Given the description of an element on the screen output the (x, y) to click on. 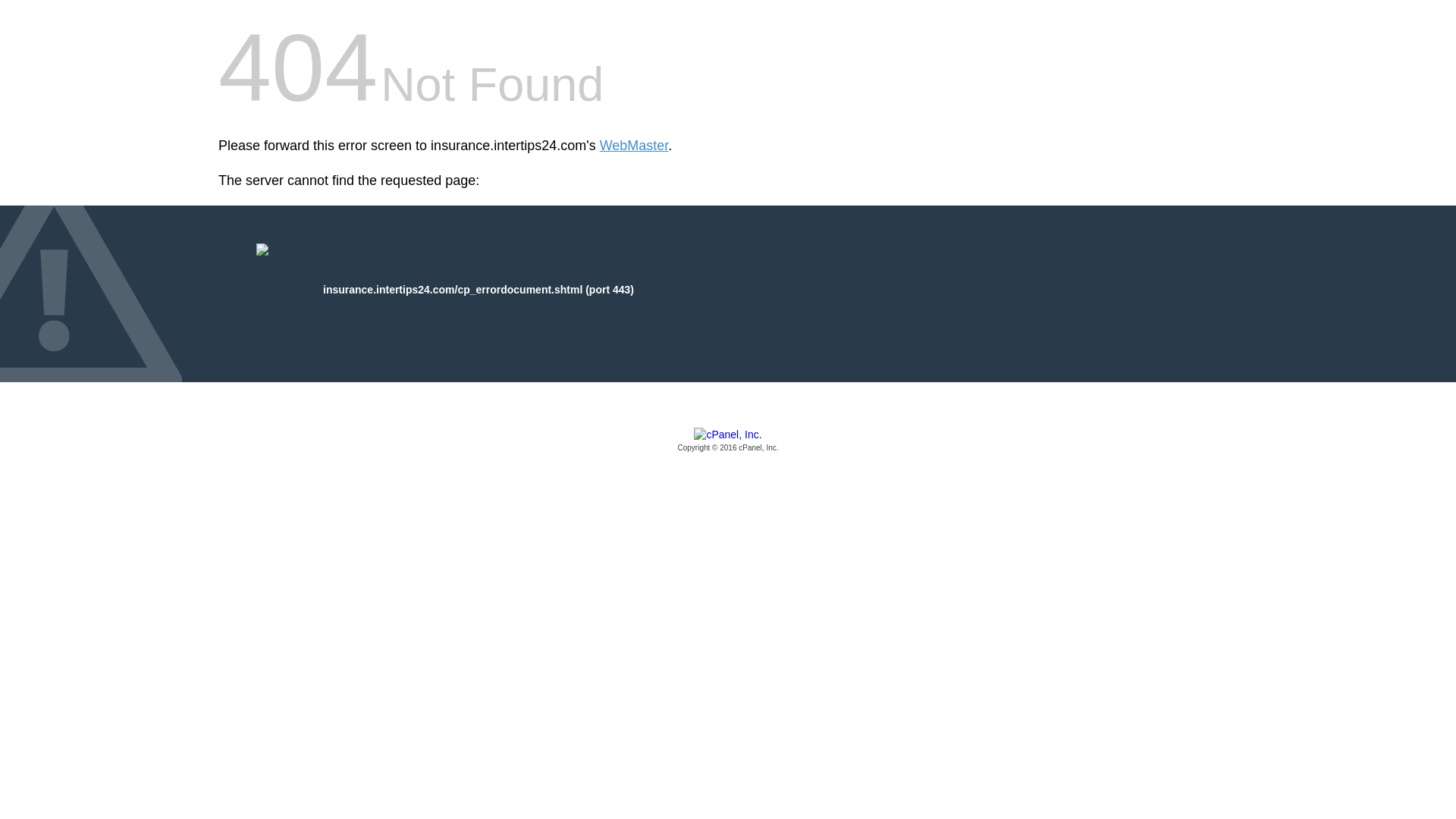
WebMaster (633, 145)
cPanel, Inc. (727, 440)
